Given the description of an element on the screen output the (x, y) to click on. 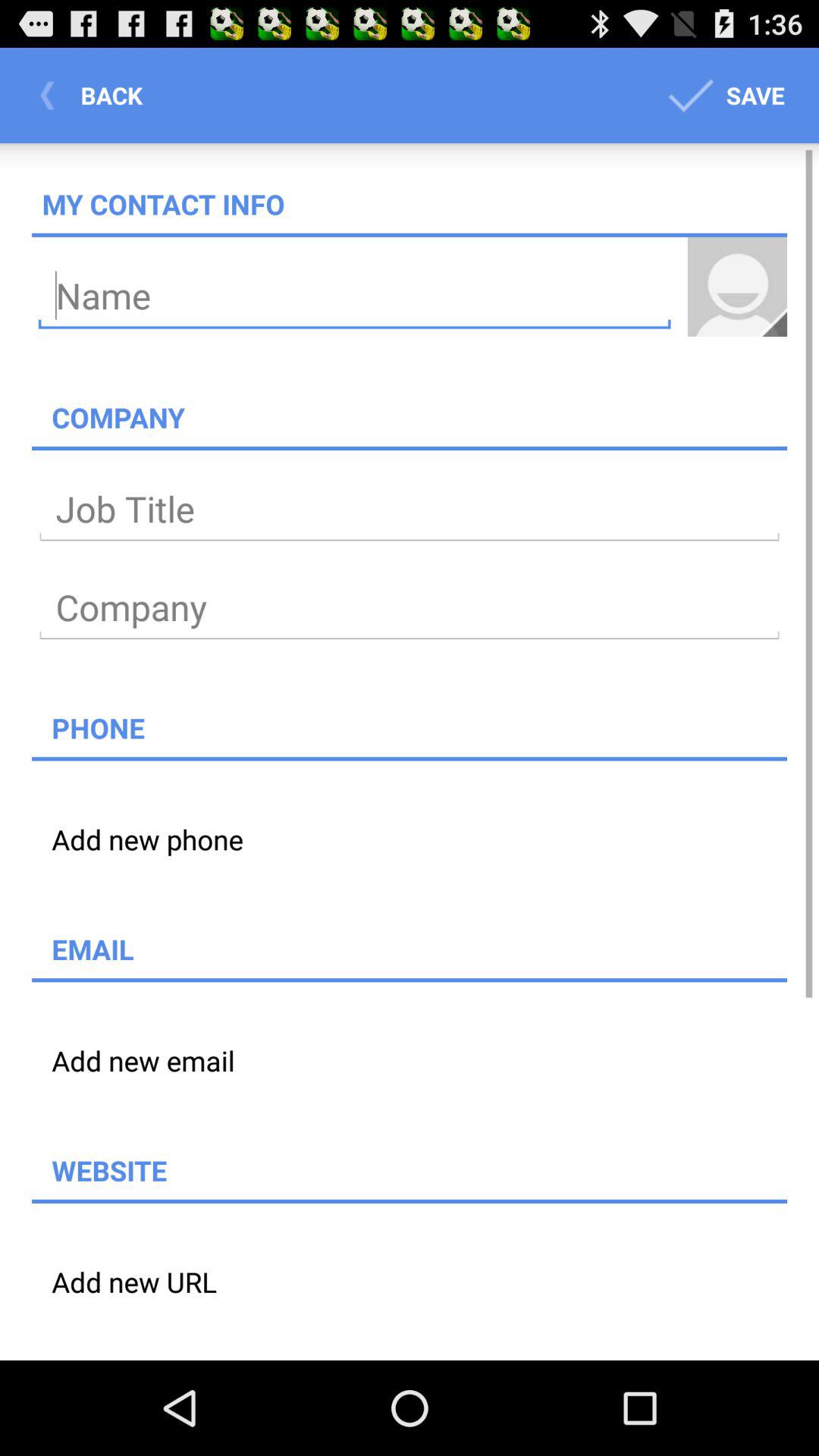
click icon above my contact info (723, 95)
